Given the description of an element on the screen output the (x, y) to click on. 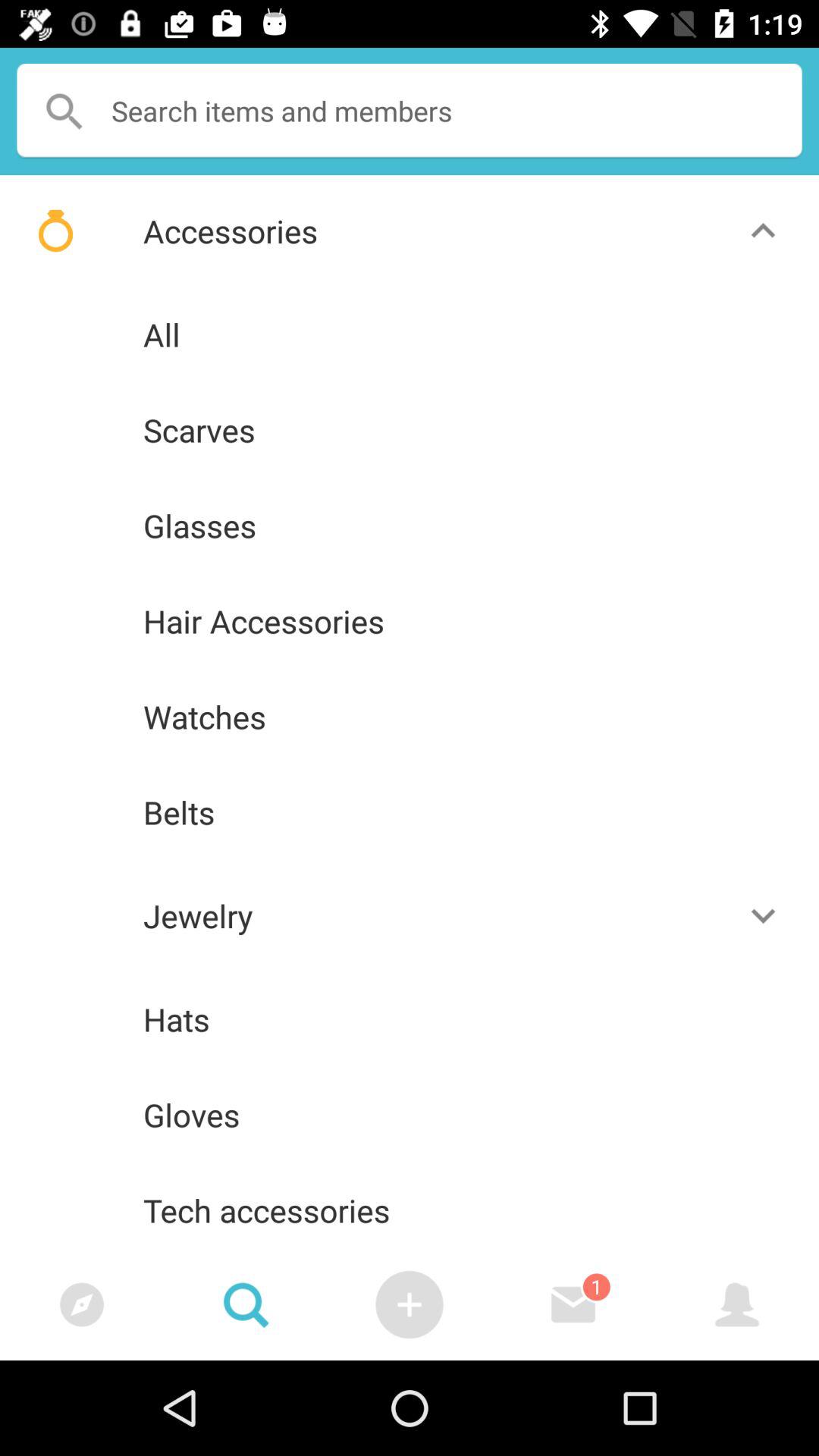
flip until the search items and (409, 111)
